Given the description of an element on the screen output the (x, y) to click on. 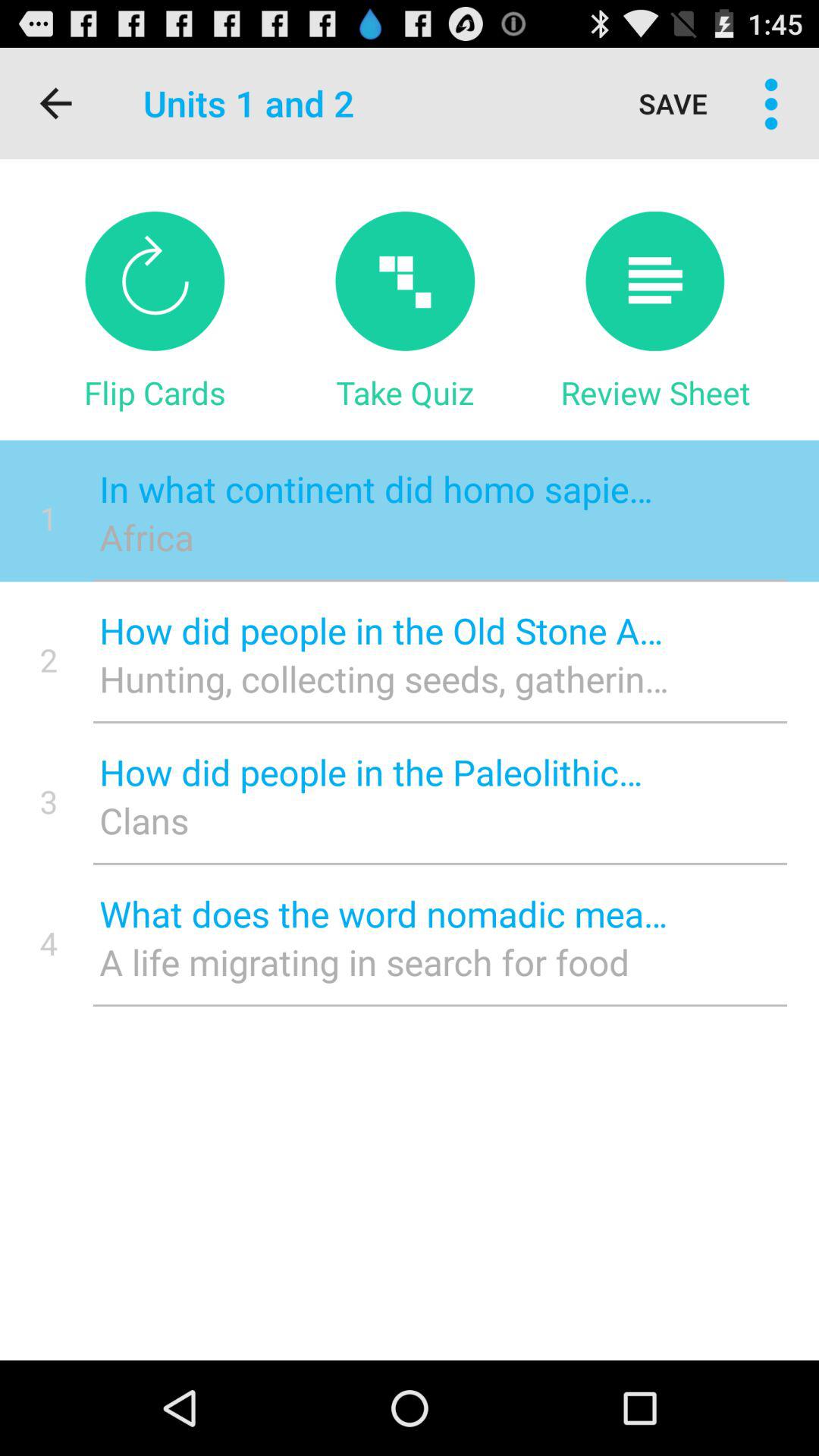
open item next to flip cards (405, 392)
